Given the description of an element on the screen output the (x, y) to click on. 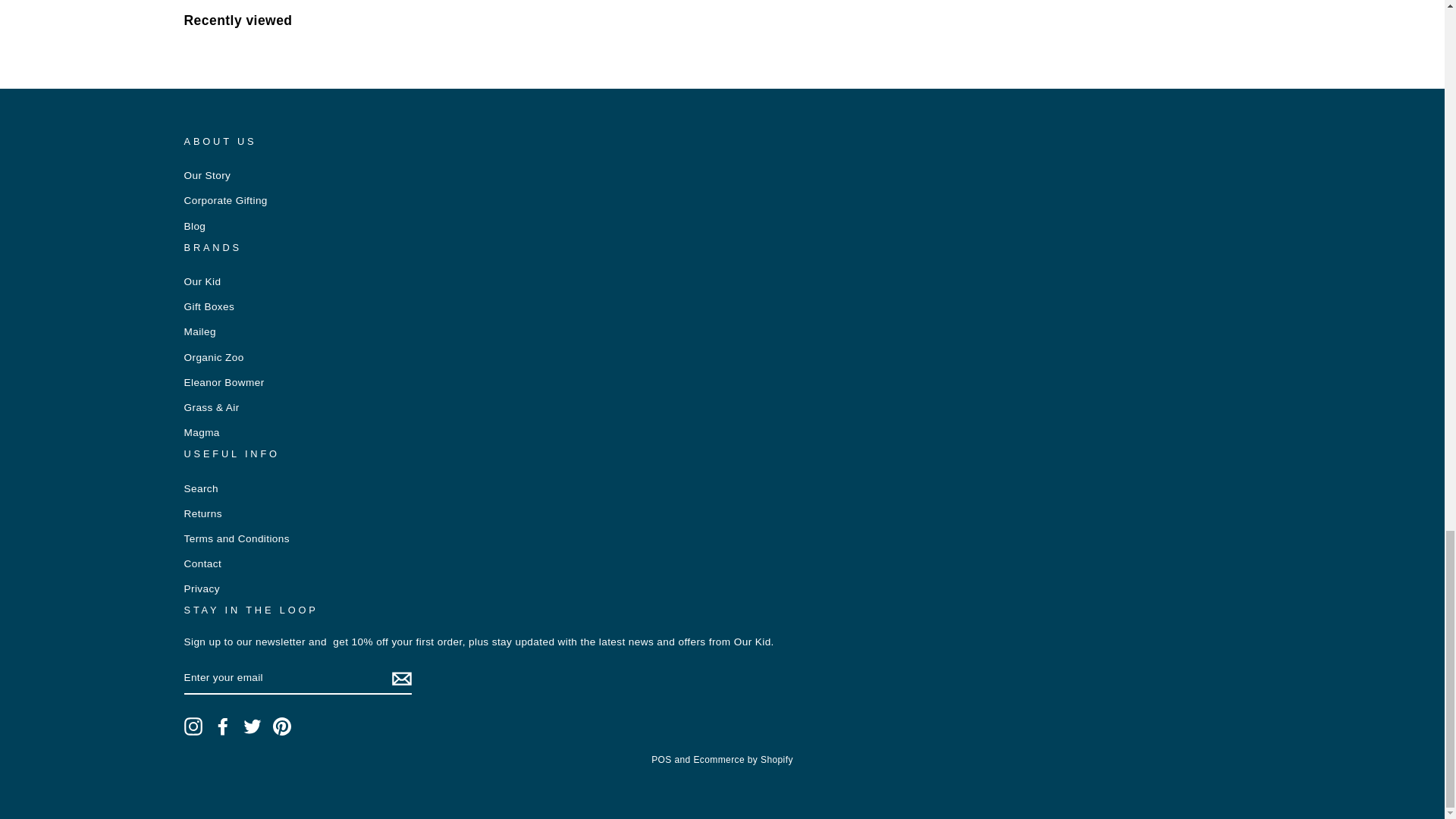
Our Kid on Facebook (222, 726)
Our Kid on Pinterest (282, 726)
Our Kid on Twitter (251, 726)
Our Kid on Instagram (192, 726)
